Given the description of an element on the screen output the (x, y) to click on. 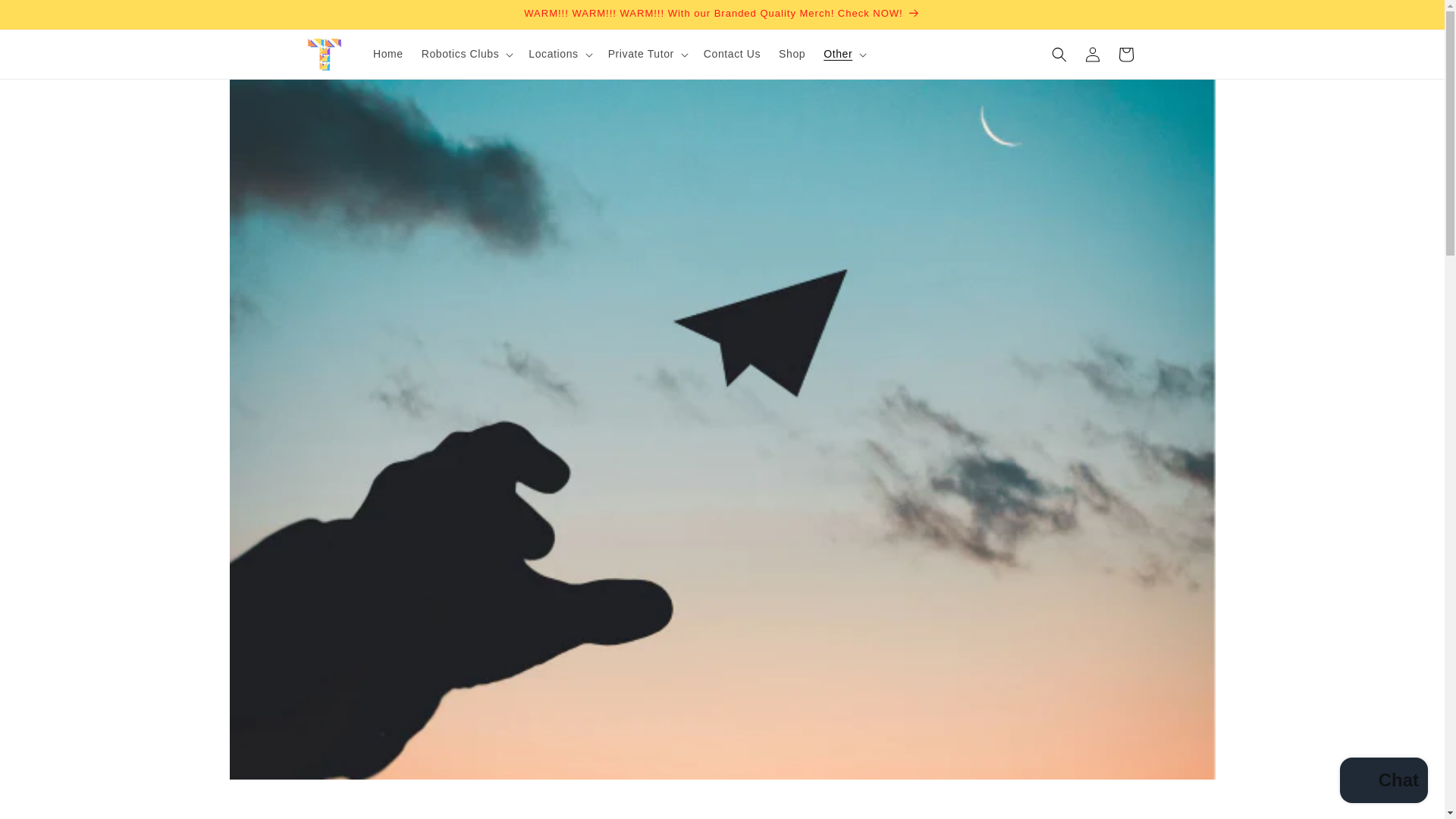
Skip to content (45, 17)
